Given the description of an element on the screen output the (x, y) to click on. 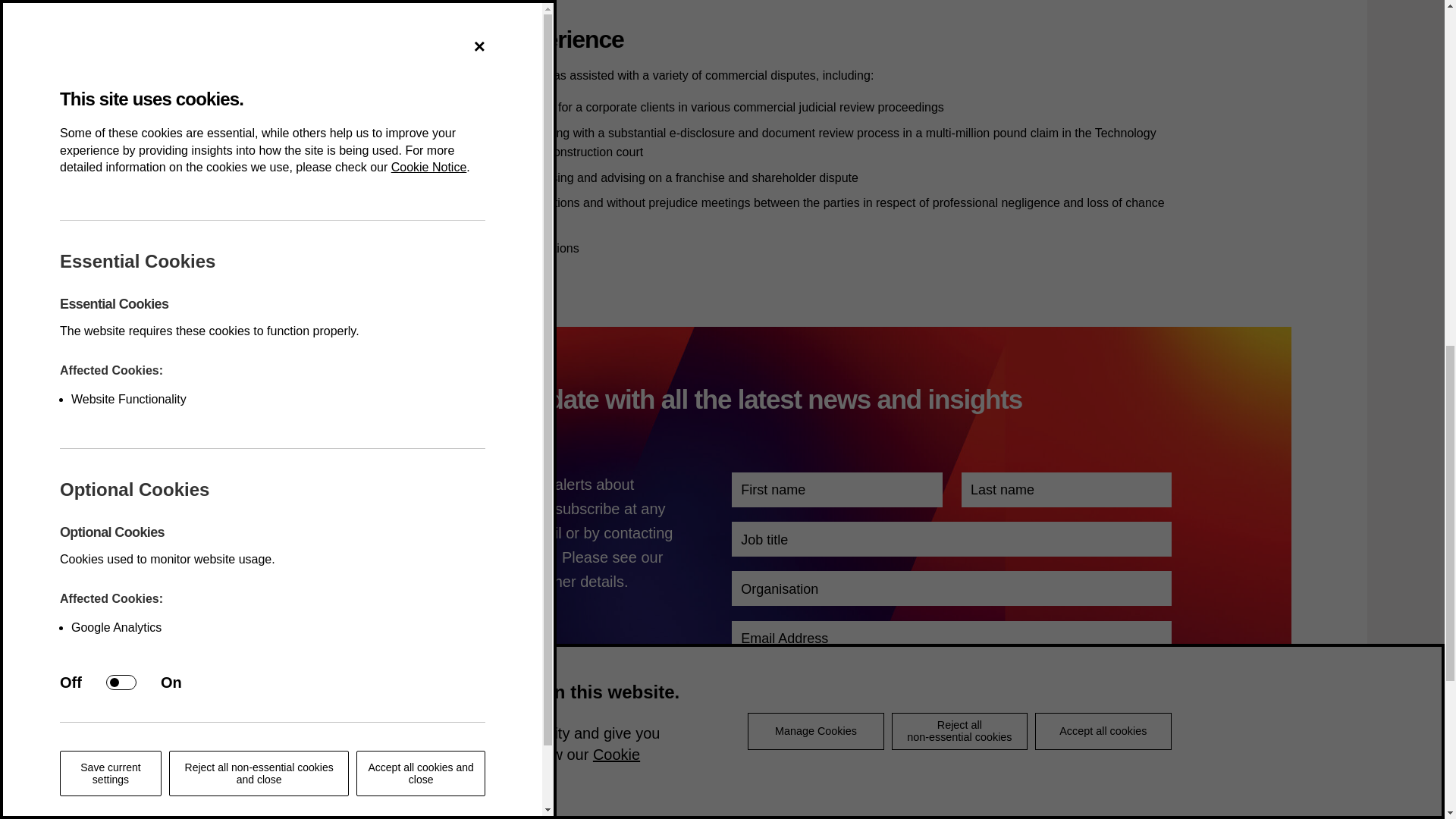
cookie notice (457, 581)
privacy notice (324, 581)
